Given the description of an element on the screen output the (x, y) to click on. 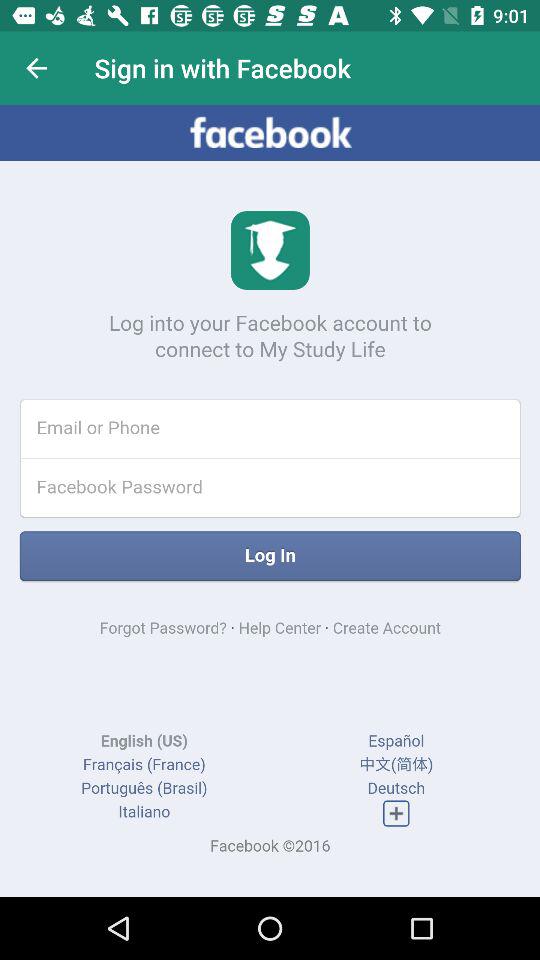
select screen (270, 501)
